Given the description of an element on the screen output the (x, y) to click on. 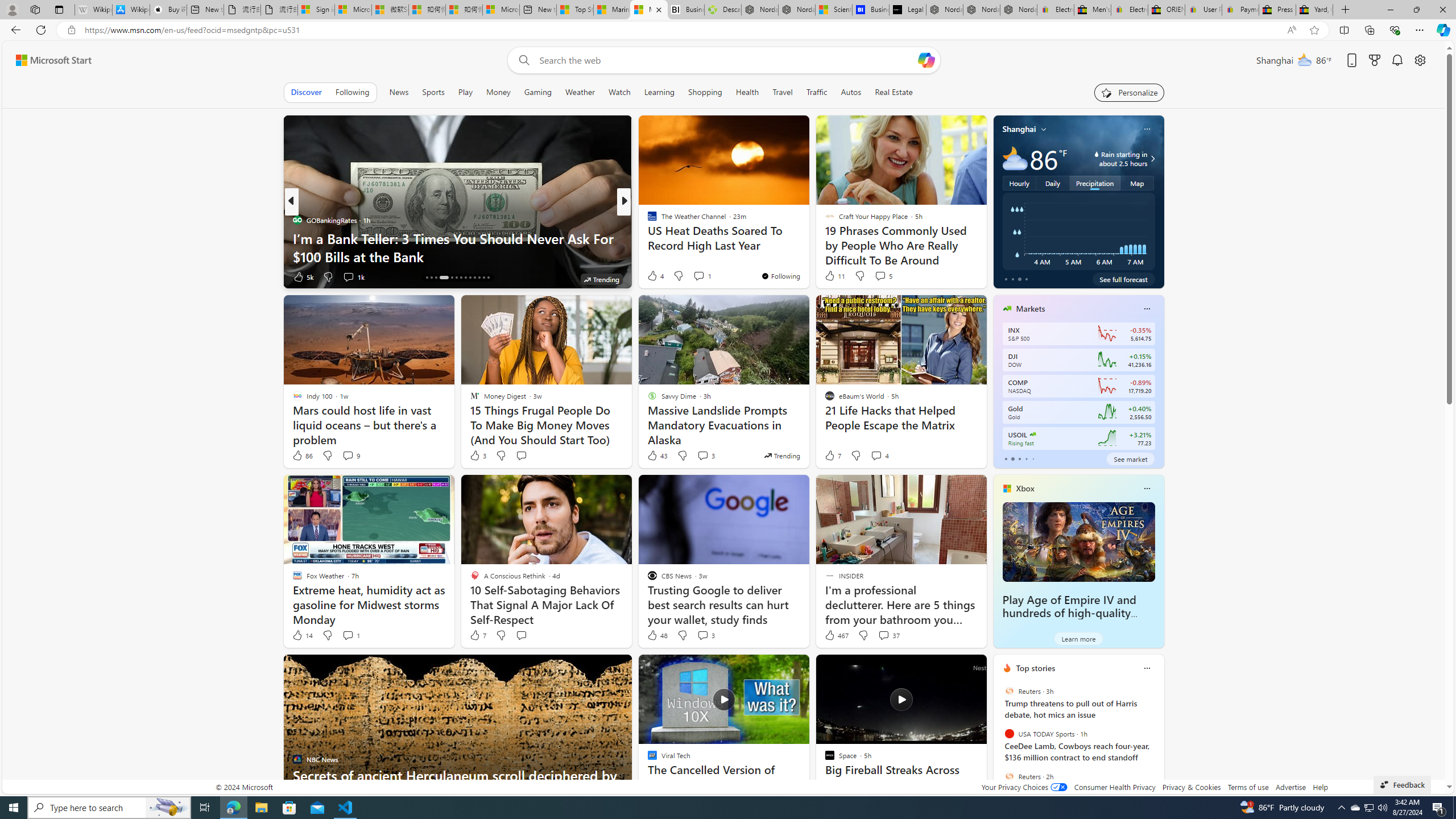
See full forecast (1123, 278)
tab-2 (1019, 458)
View comments 1k Comment (347, 276)
12 Like (652, 276)
Gaming (537, 92)
Wikipedia - Sleeping (92, 9)
Travel (782, 92)
View comments 53 Comment (703, 276)
Traffic (816, 92)
4 Like (655, 275)
115 Like (654, 276)
AutomationID: tab-21 (465, 277)
